Given the description of an element on the screen output the (x, y) to click on. 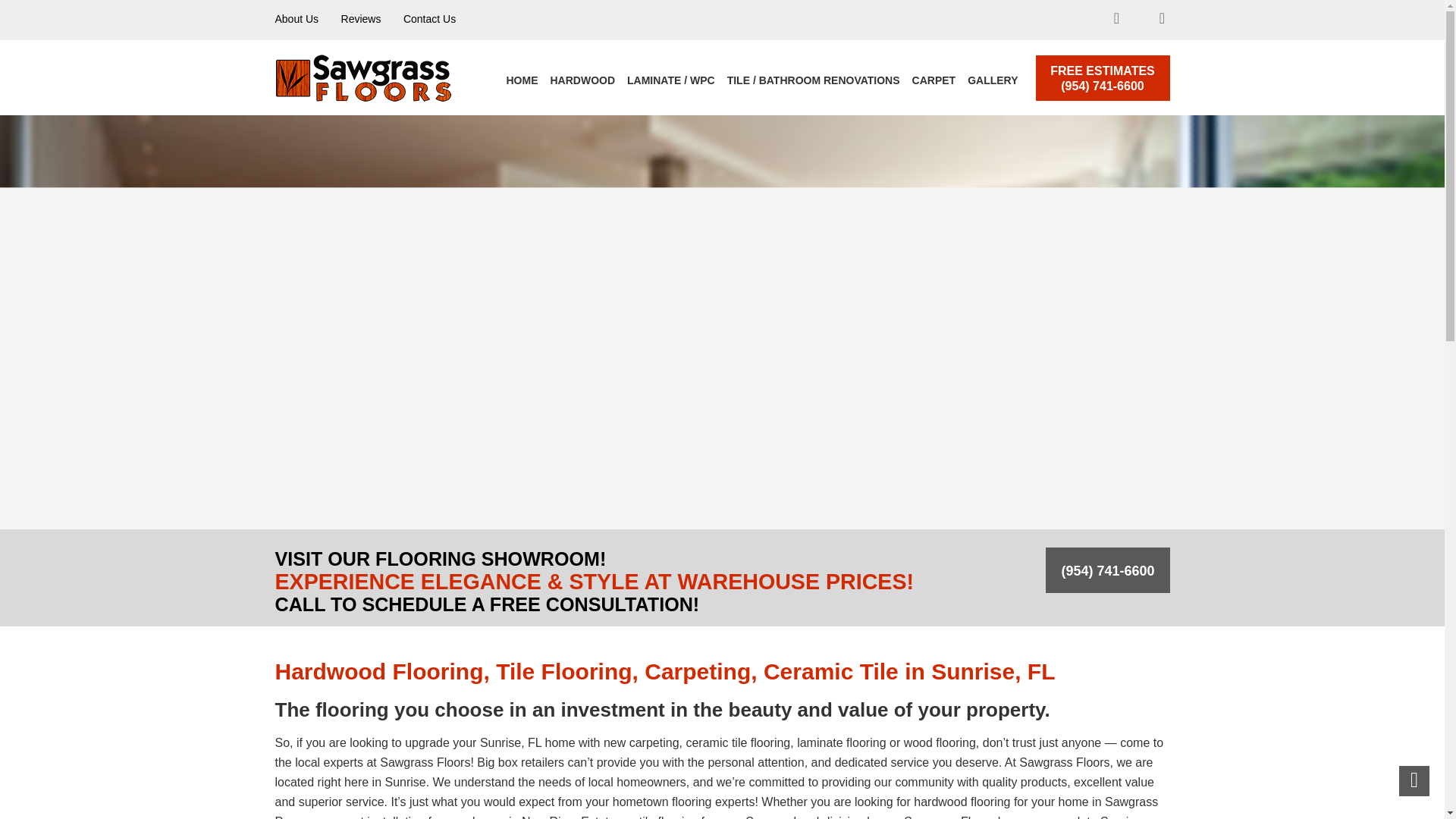
HOME (522, 80)
Houzz (1161, 19)
Facebook (1116, 19)
Contact Us (429, 19)
CARPET (933, 80)
Twitter (1139, 20)
GALLERY (991, 80)
Reviews (360, 19)
HARDWOOD (582, 80)
About Us (296, 19)
